Given the description of an element on the screen output the (x, y) to click on. 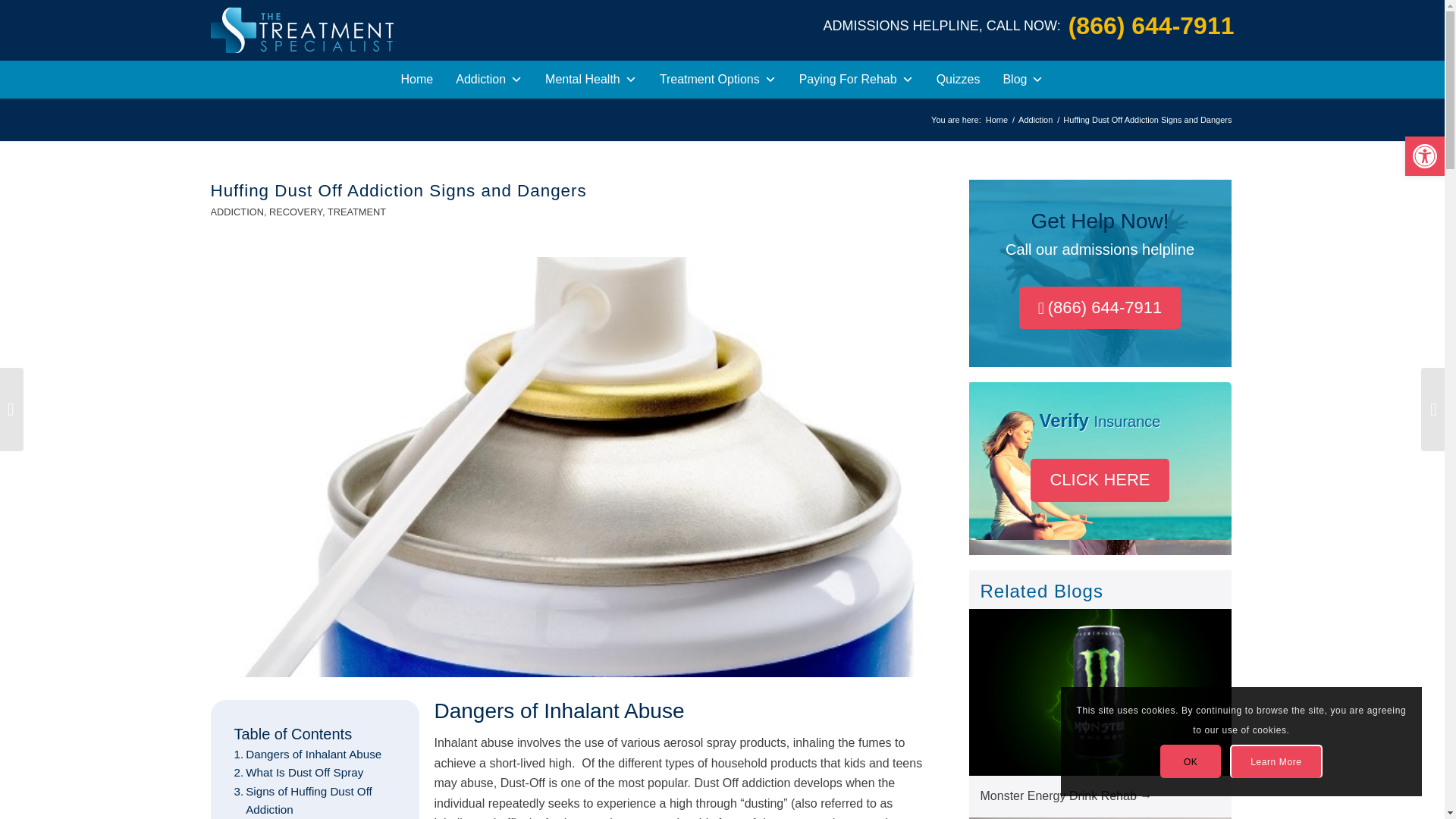
Signs of Huffing Dust Off Addiction (313, 800)
Dangers of Inhalant Abuse (306, 754)
What Is Dust Off Spray (297, 772)
The Treatment Specialist (997, 120)
Accessibility Tools (1424, 156)
